Given the description of an element on the screen output the (x, y) to click on. 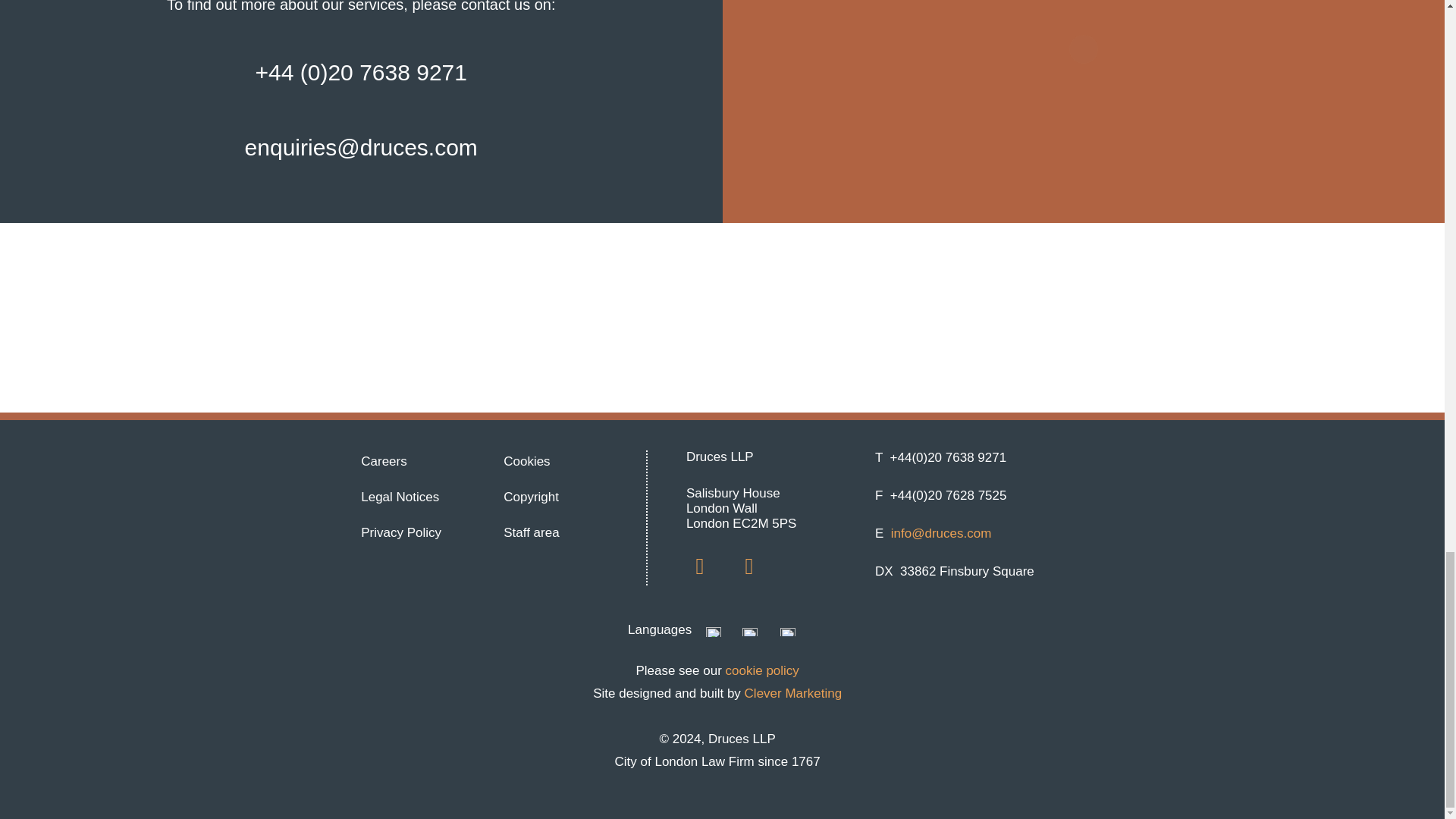
Digital Marketing Agency (793, 693)
